Given the description of an element on the screen output the (x, y) to click on. 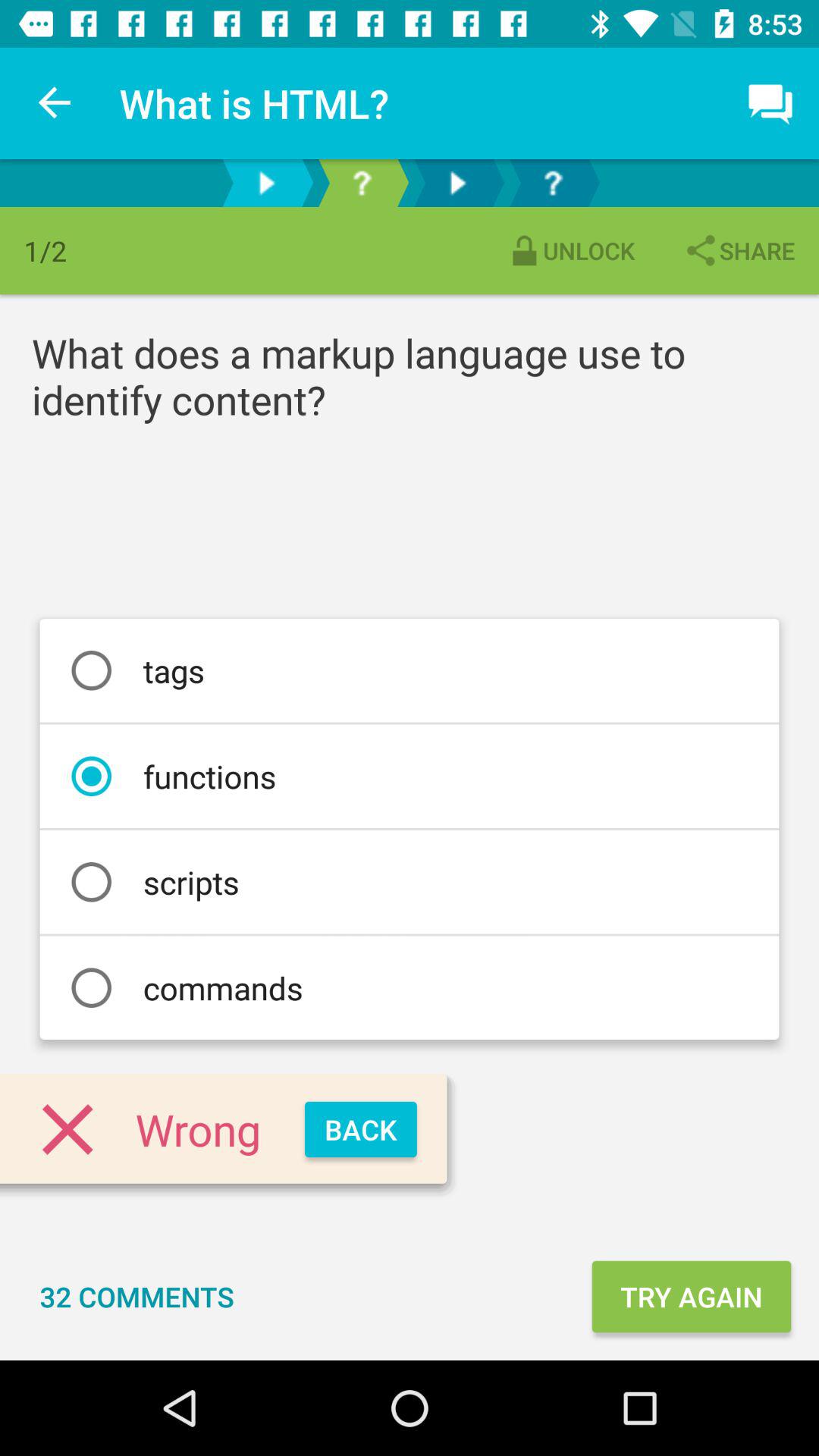
open help menu (552, 183)
